Given the description of an element on the screen output the (x, y) to click on. 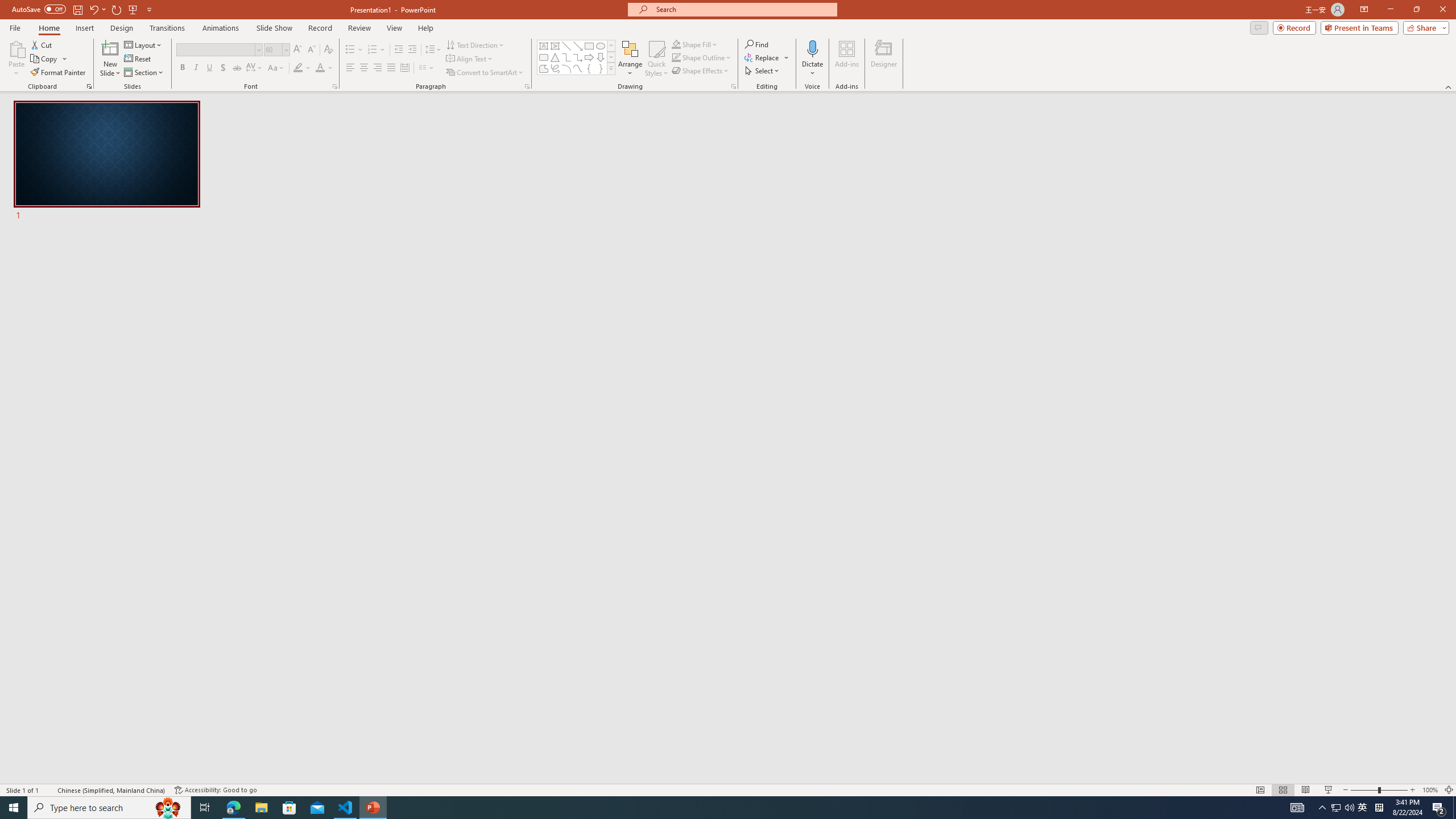
Shape Outline Blue, Accent 1 (675, 56)
Format Object... (733, 85)
Freeform: Scribble (554, 68)
Arrow: Right (589, 57)
Microsoft search (742, 9)
Curve (577, 68)
Line Spacing (433, 49)
Shape Fill Orange, Accent 2 (675, 44)
Align Right (377, 67)
Text Direction (476, 44)
Font... (334, 85)
